Given the description of an element on the screen output the (x, y) to click on. 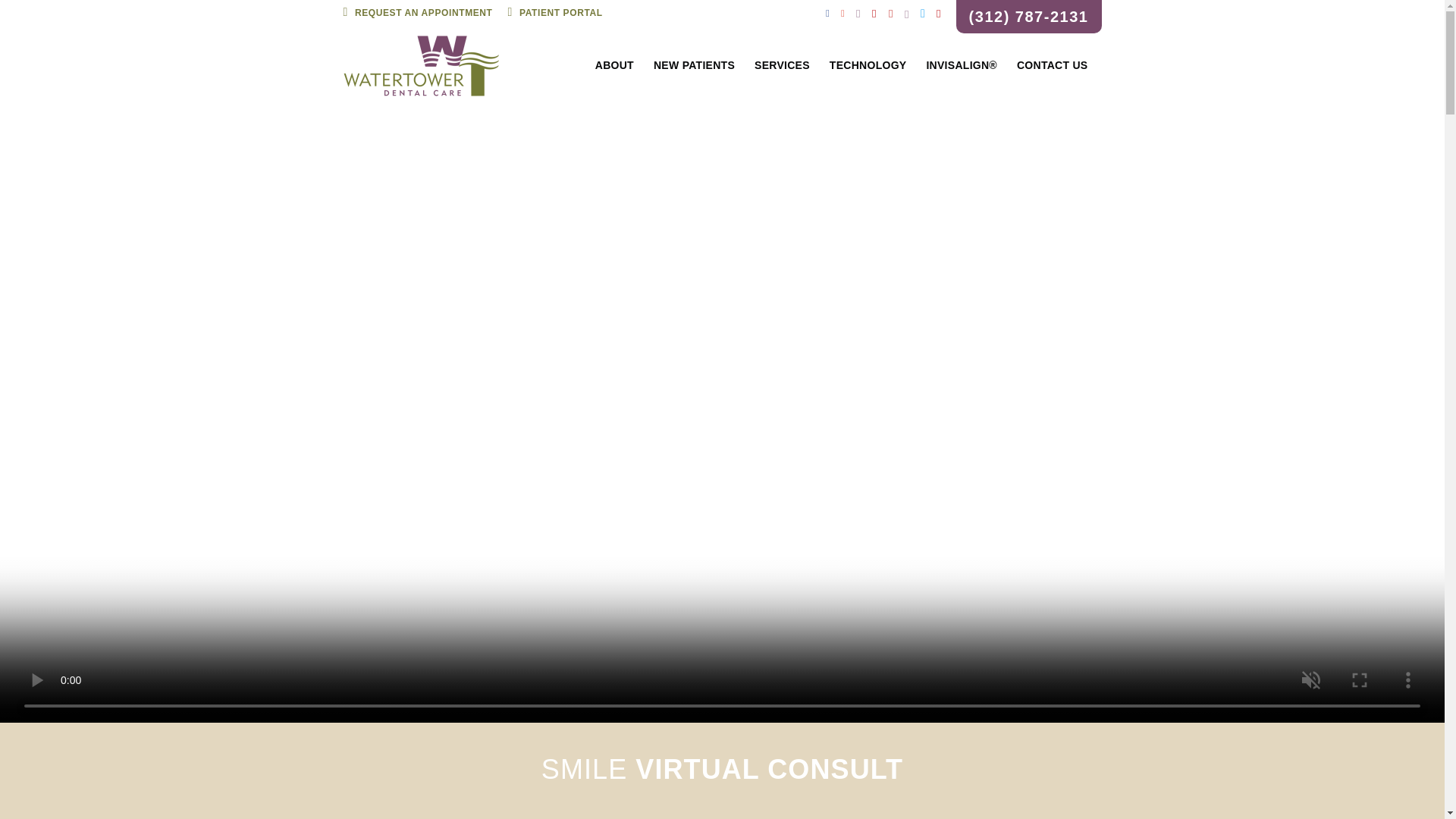
ABOUT (614, 65)
SERVICES (781, 65)
TECHNOLOGY (868, 65)
NEW PATIENTS (694, 65)
